Given the description of an element on the screen output the (x, y) to click on. 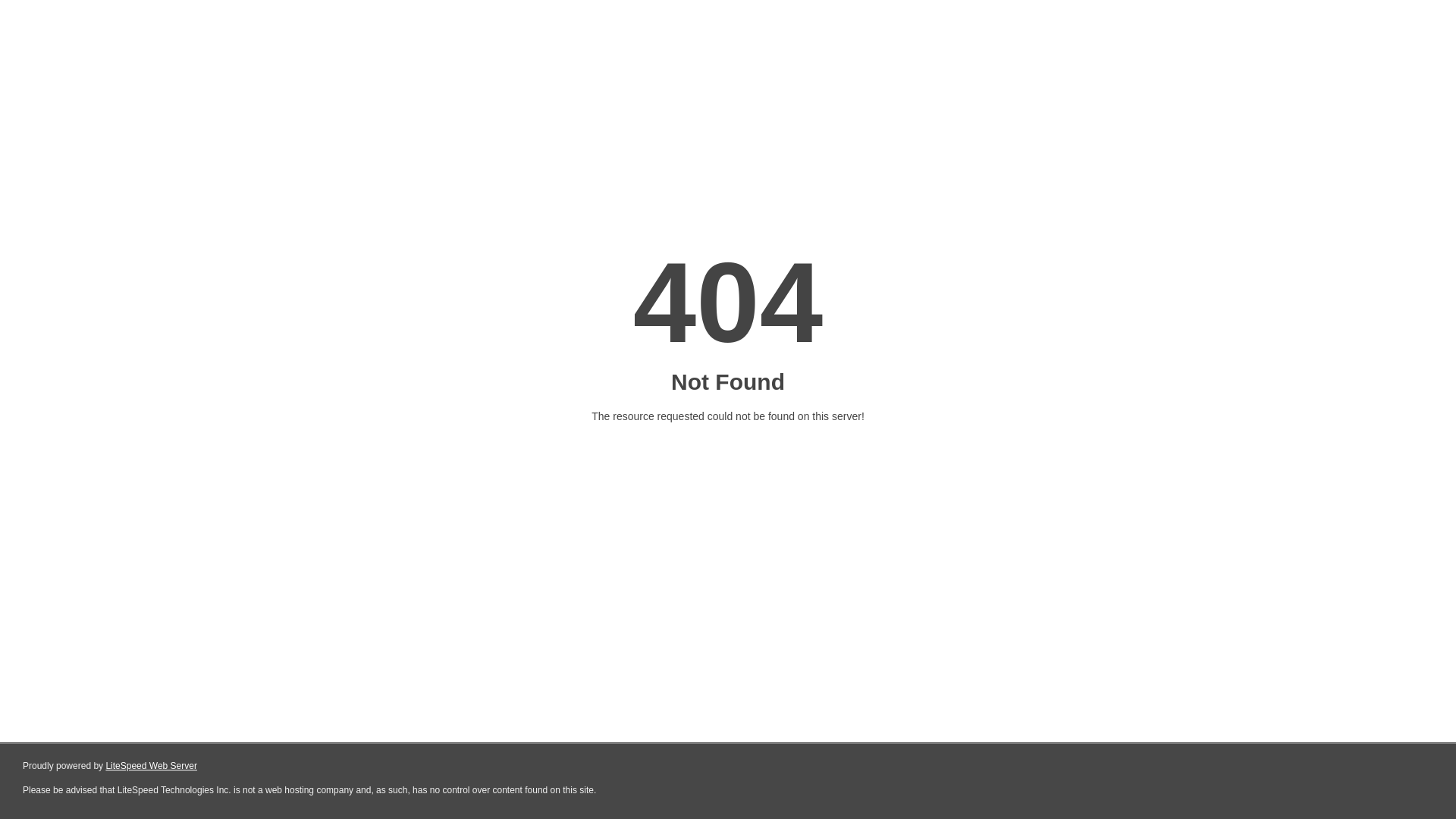
LiteSpeed Web Server Element type: text (151, 765)
